Given the description of an element on the screen output the (x, y) to click on. 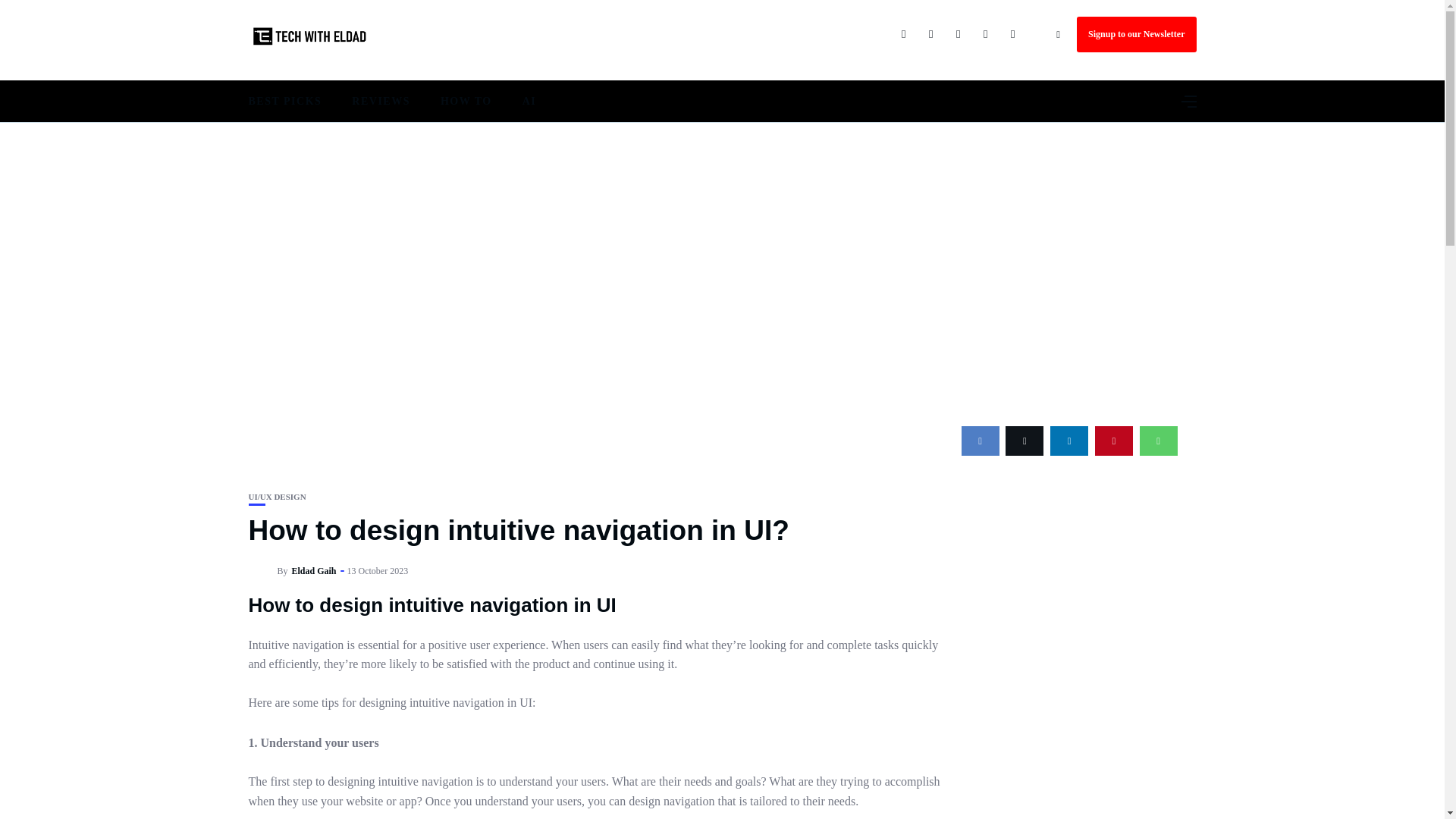
facebook (979, 440)
Posts by Eldad Gaih (314, 570)
